Given the description of an element on the screen output the (x, y) to click on. 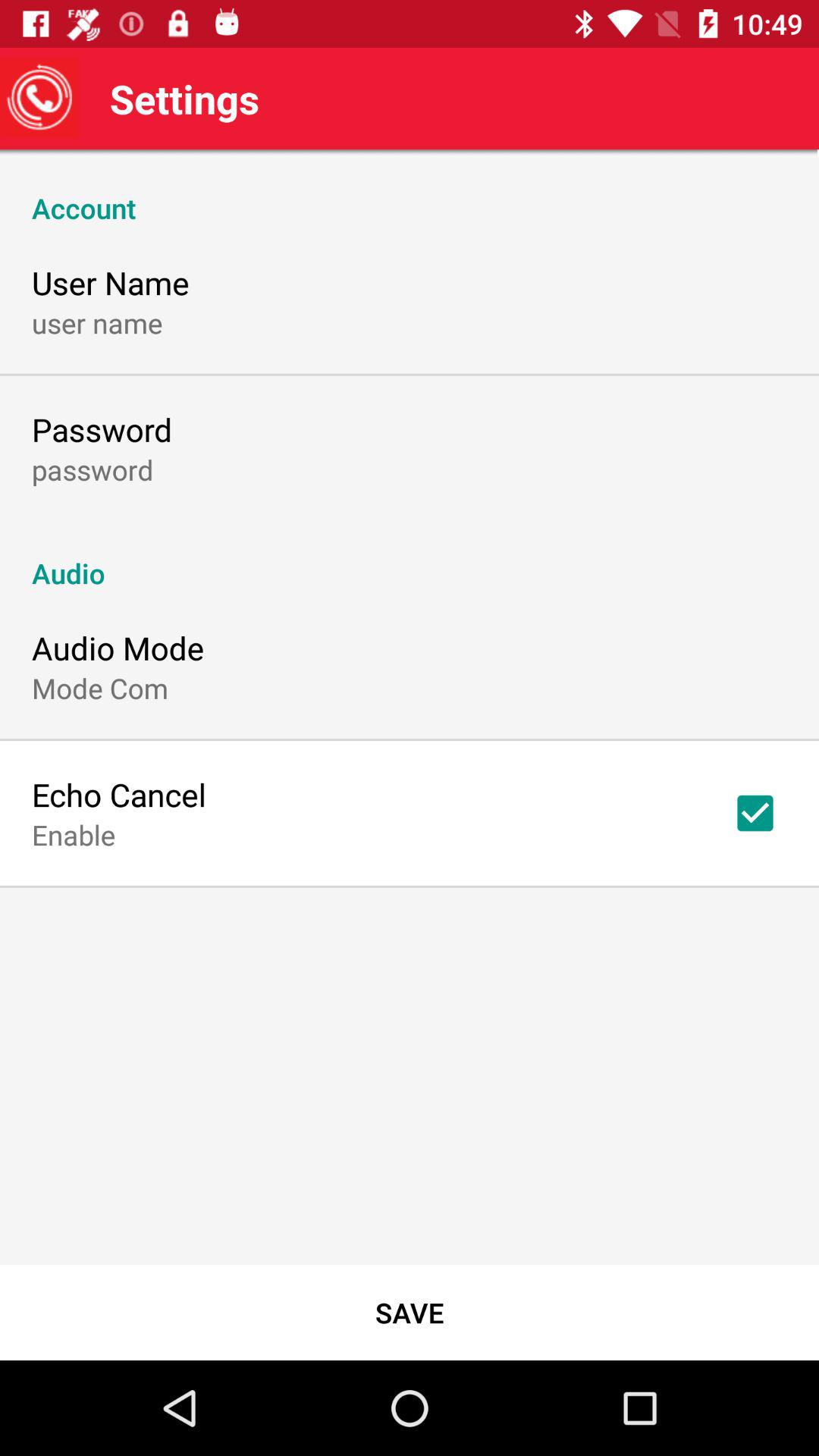
click the icon below enable icon (409, 1312)
